Given the description of an element on the screen output the (x, y) to click on. 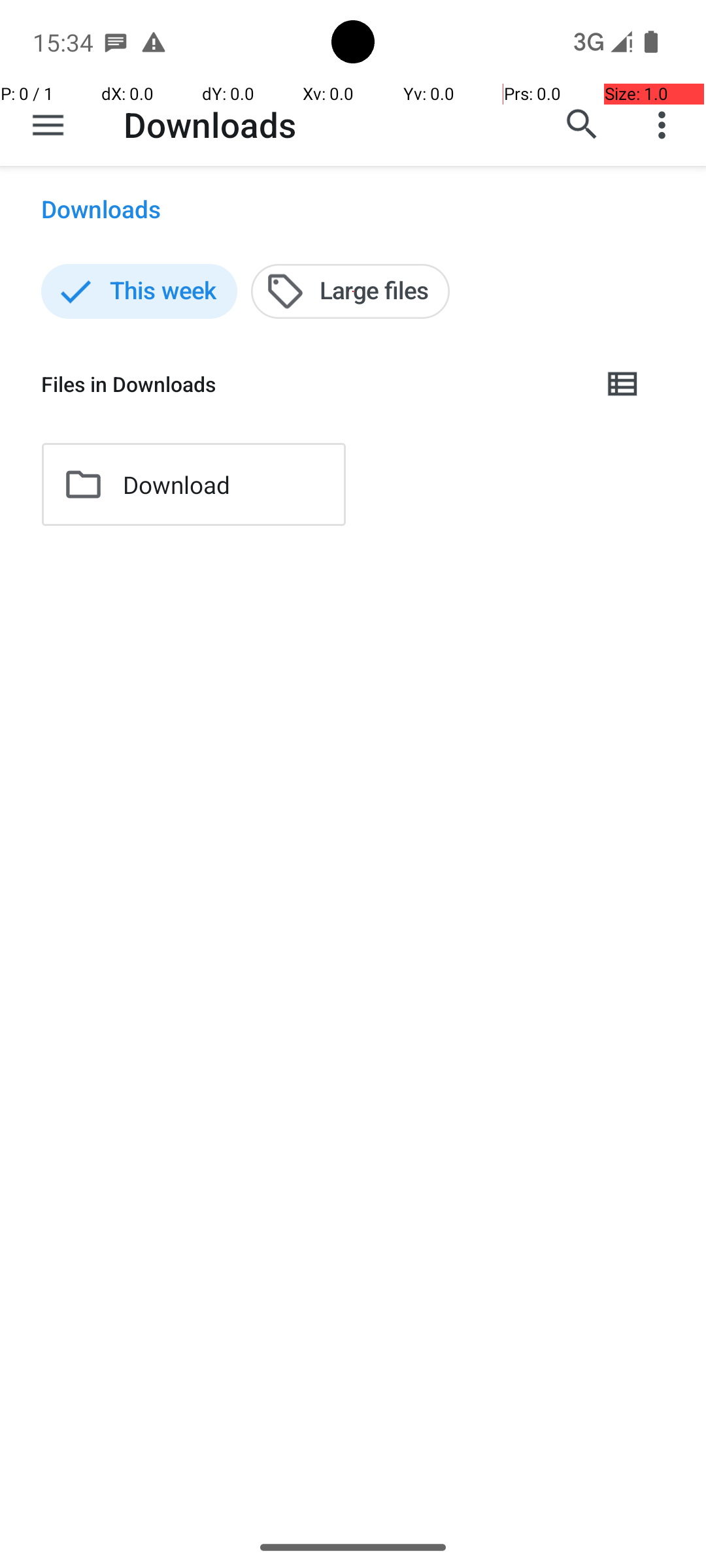
Download Element type: android.widget.TextView (176, 484)
